Given the description of an element on the screen output the (x, y) to click on. 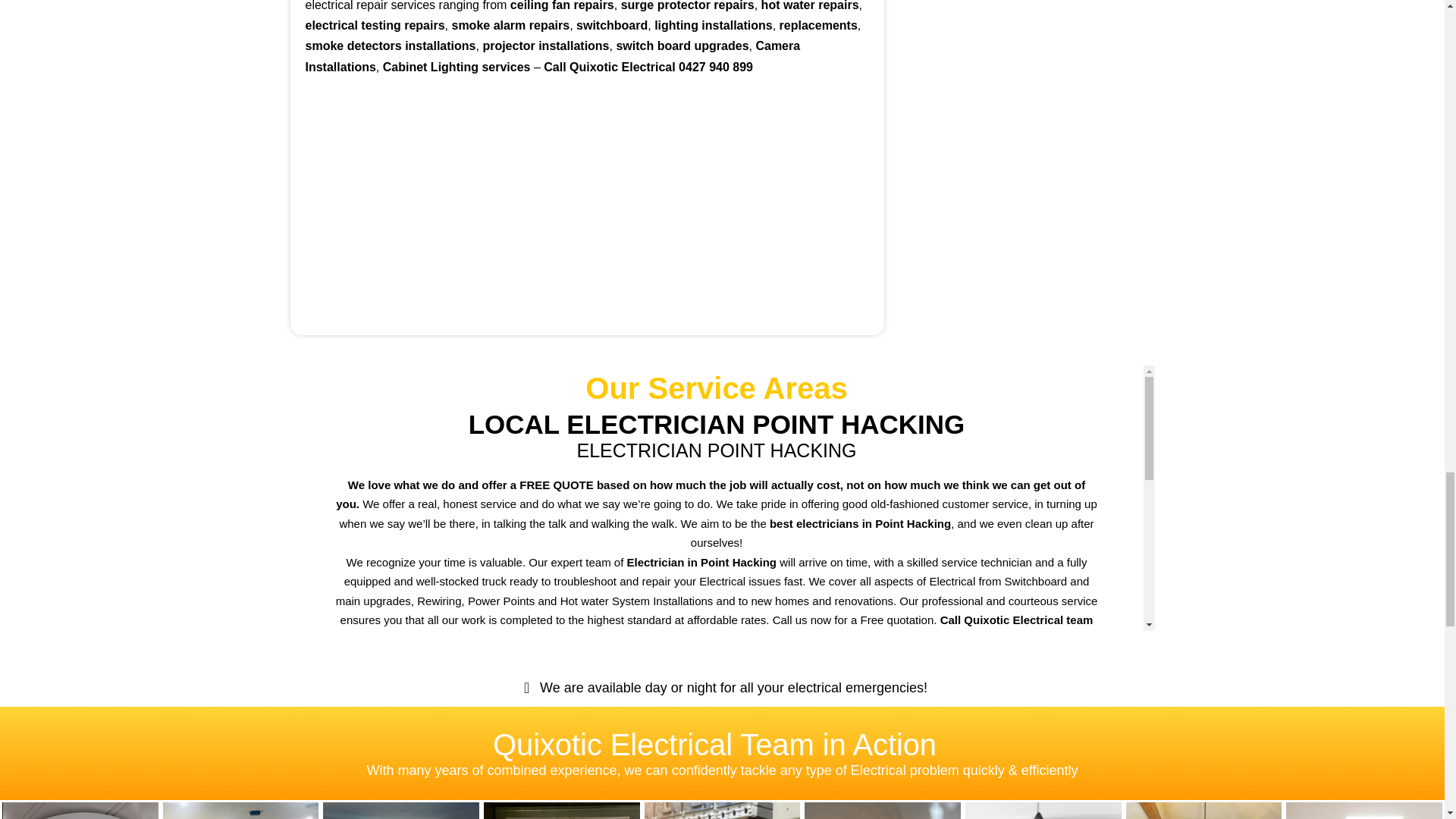
224 (401, 810)
221 (1043, 810)
225 (240, 810)
Elect Select Electrical (561, 810)
Point Hacking, NSW (586, 206)
220 (1203, 810)
226 (882, 810)
222 (722, 810)
223 (80, 810)
227 (1363, 810)
